Given the description of an element on the screen output the (x, y) to click on. 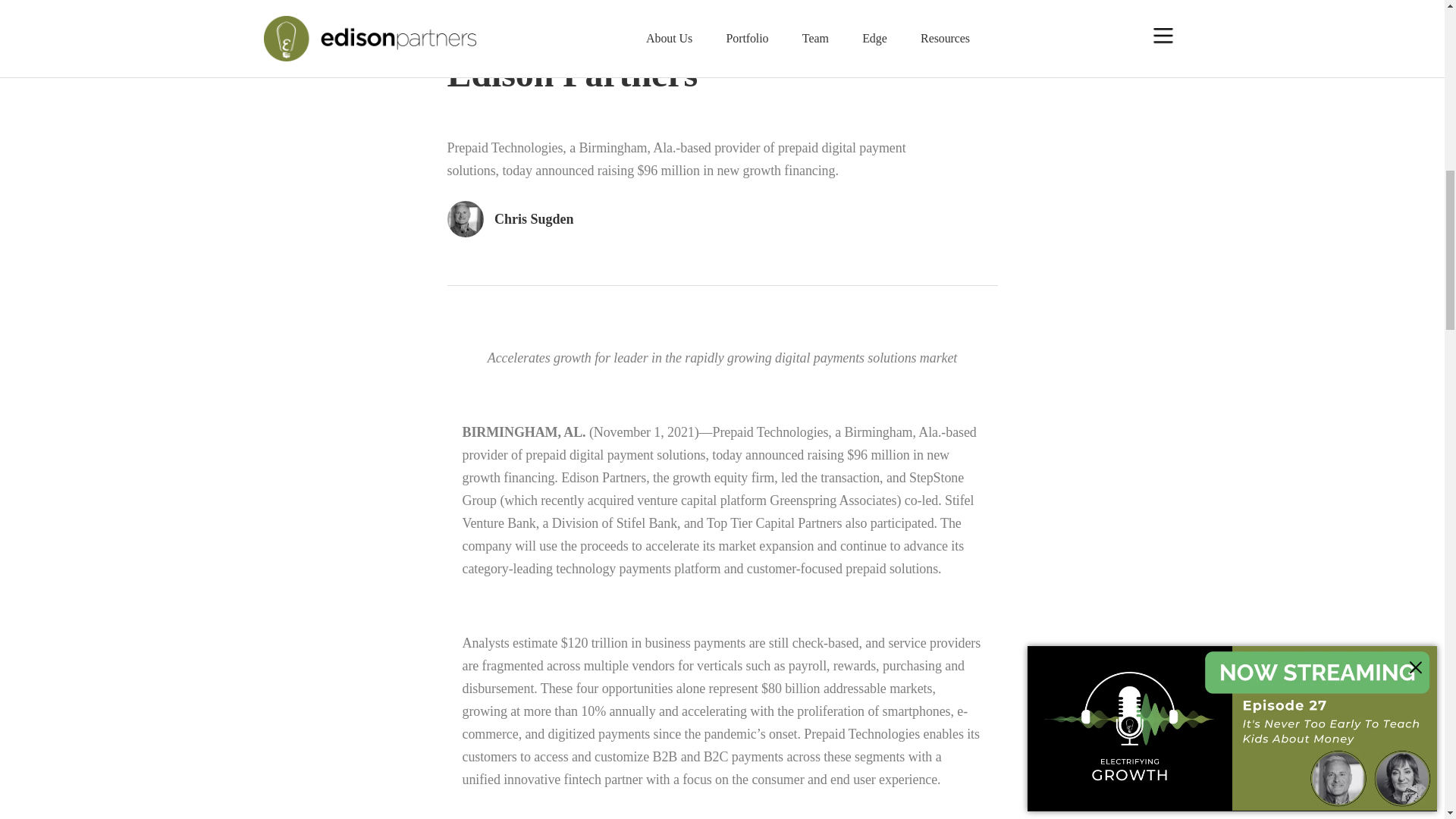
Top Tier Capital Partners (774, 522)
Greenspring Associates (833, 500)
Stifel Venture Bank (718, 511)
Prepaid Technologies (769, 432)
Chris Sugden (721, 245)
Edison Partners (603, 477)
Stifel Bank (646, 522)
StepStone Group (713, 488)
